Given the description of an element on the screen output the (x, y) to click on. 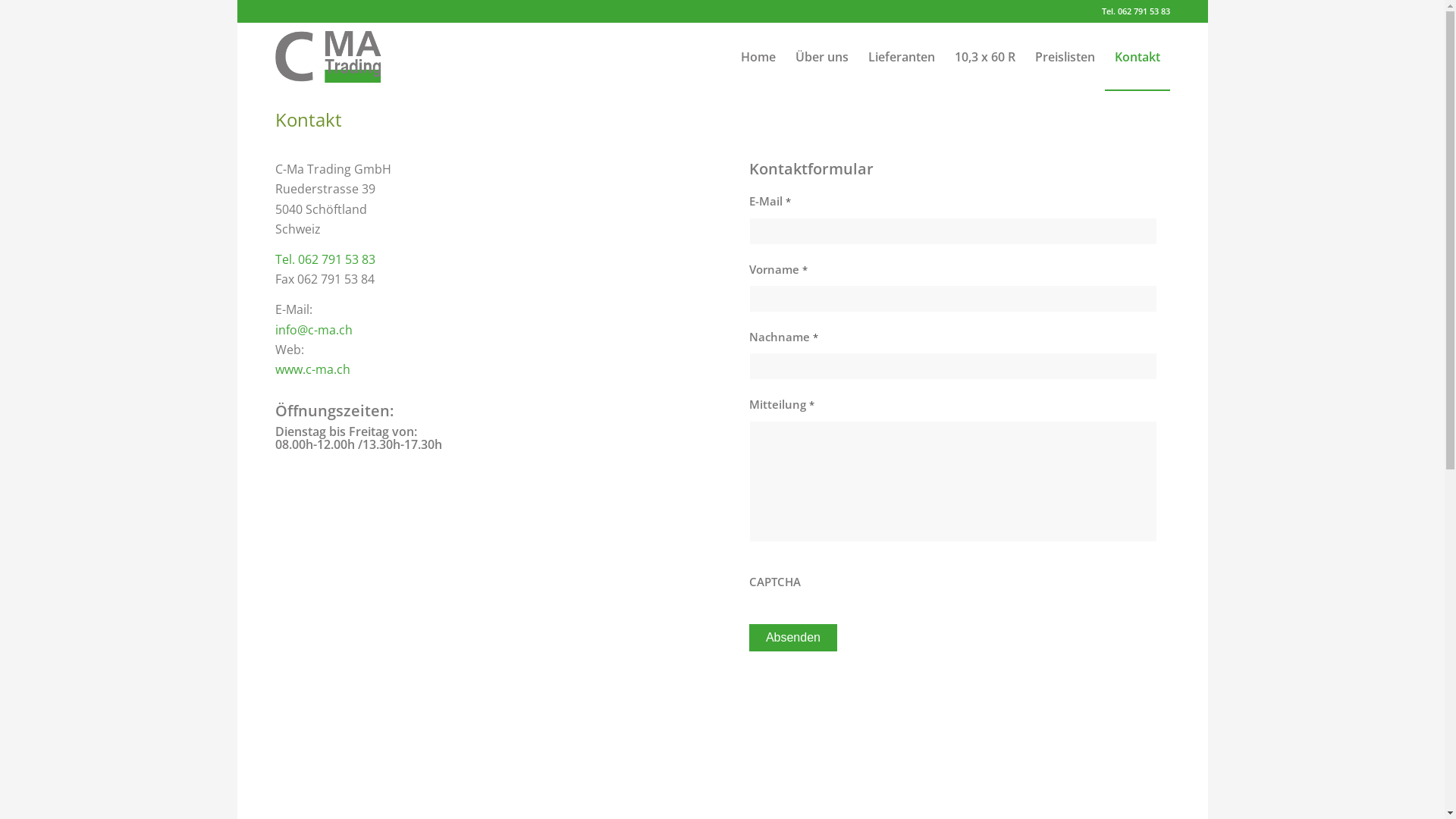
Tel. 062 791 53 83 Element type: text (1135, 10)
www.c-ma.ch Element type: text (311, 368)
Lieferanten Element type: text (901, 56)
Kontakt Element type: text (307, 118)
info@c-ma.ch Element type: text (312, 329)
10,3 x 60 R Element type: text (984, 56)
Kontakt Element type: text (1136, 56)
Tel. 062 791 53 83 Element type: text (324, 259)
Home Element type: text (758, 56)
Absenden Element type: text (793, 637)
Preislisten Element type: text (1064, 56)
